Given the description of an element on the screen output the (x, y) to click on. 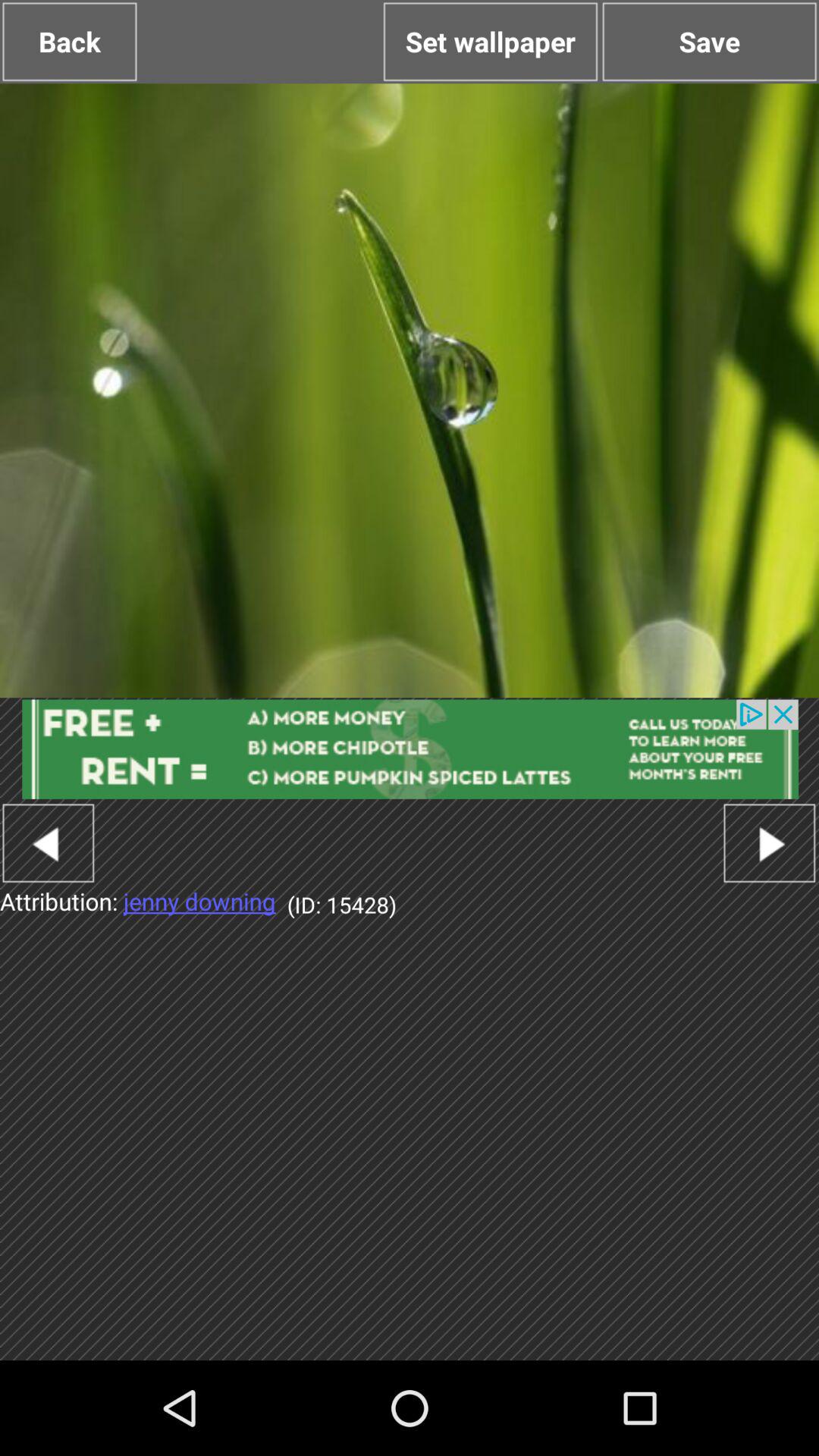
go next (769, 842)
